Given the description of an element on the screen output the (x, y) to click on. 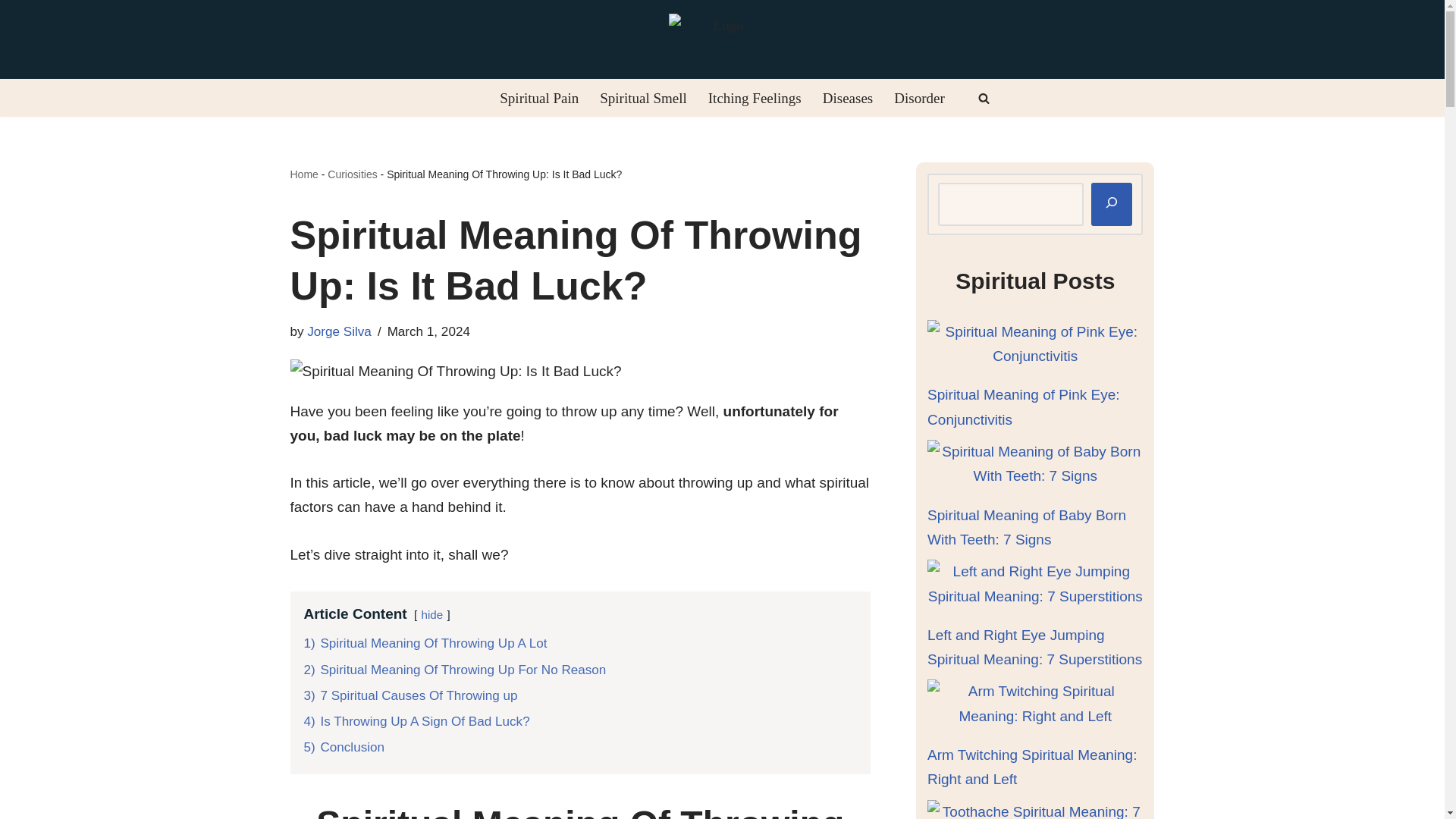
hide (431, 614)
Disorder (918, 97)
Skip to content (11, 31)
Spiritual Smell (643, 97)
Jorge Silva (339, 331)
Itching Feelings (754, 97)
Posts by Jorge Silva (339, 331)
Curiosities (352, 174)
Spiritual Pain (538, 97)
Home (303, 174)
Diseases (847, 97)
